Given the description of an element on the screen output the (x, y) to click on. 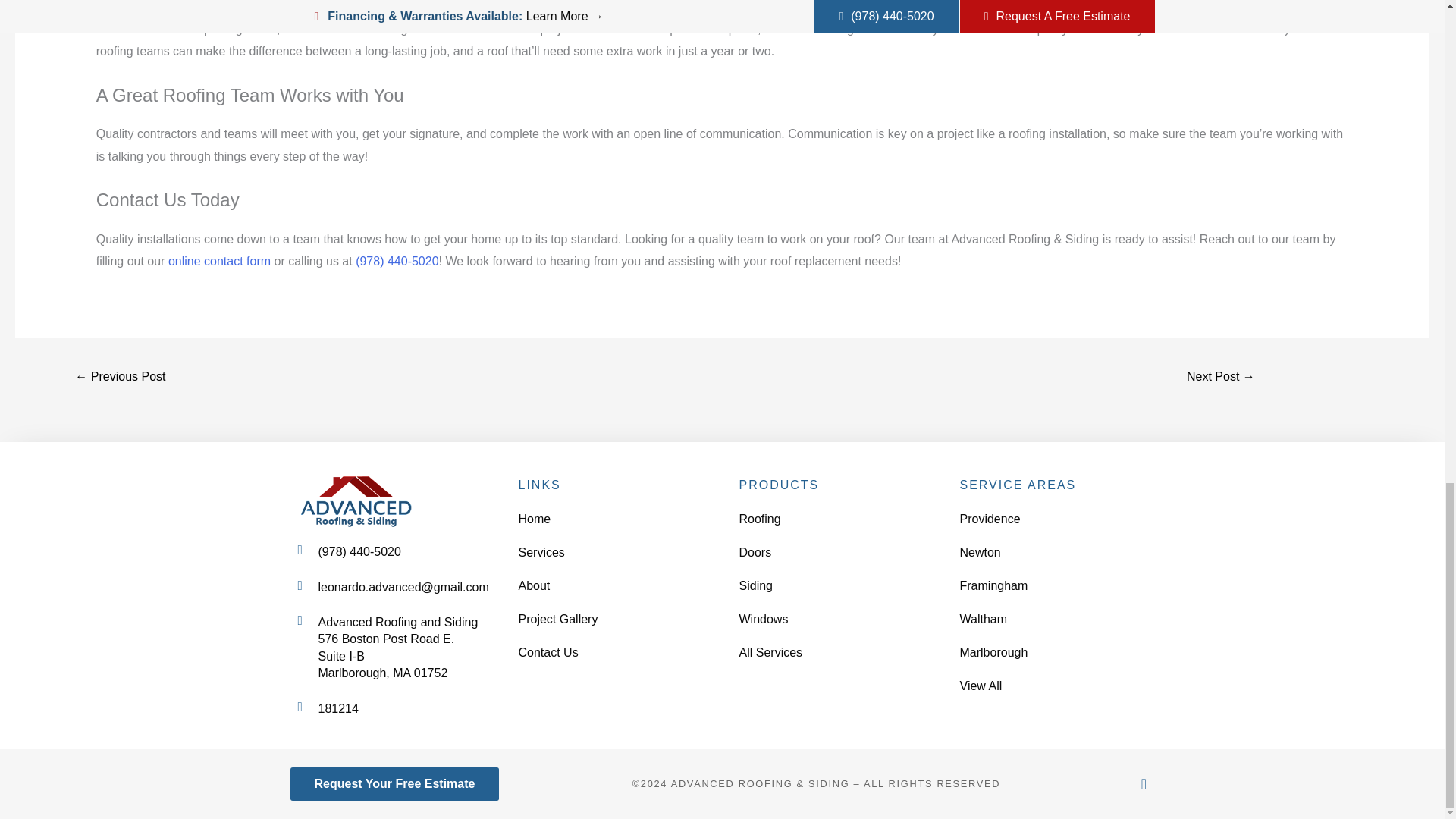
Common Mistakes Inexperienced Roofers Make (119, 377)
